Given the description of an element on the screen output the (x, y) to click on. 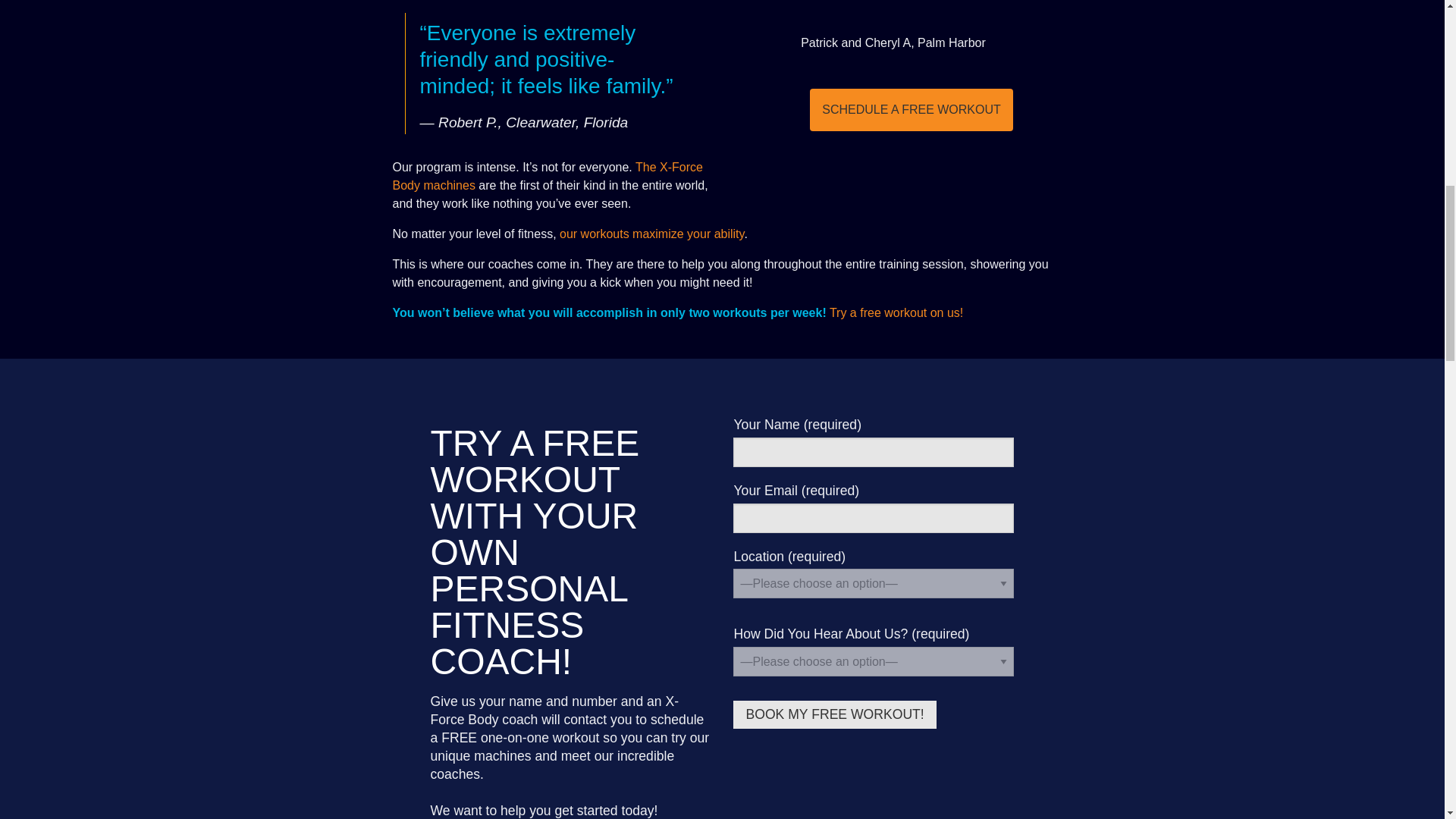
our workouts maximize your ability (651, 233)
Try a free workout on us! (895, 312)
SCHEDULE A FREE WORKOUT (911, 109)
The X-Force Body machines (548, 175)
Book My FREE Workout! (834, 714)
Book My FREE Workout! (834, 714)
